Given the description of an element on the screen output the (x, y) to click on. 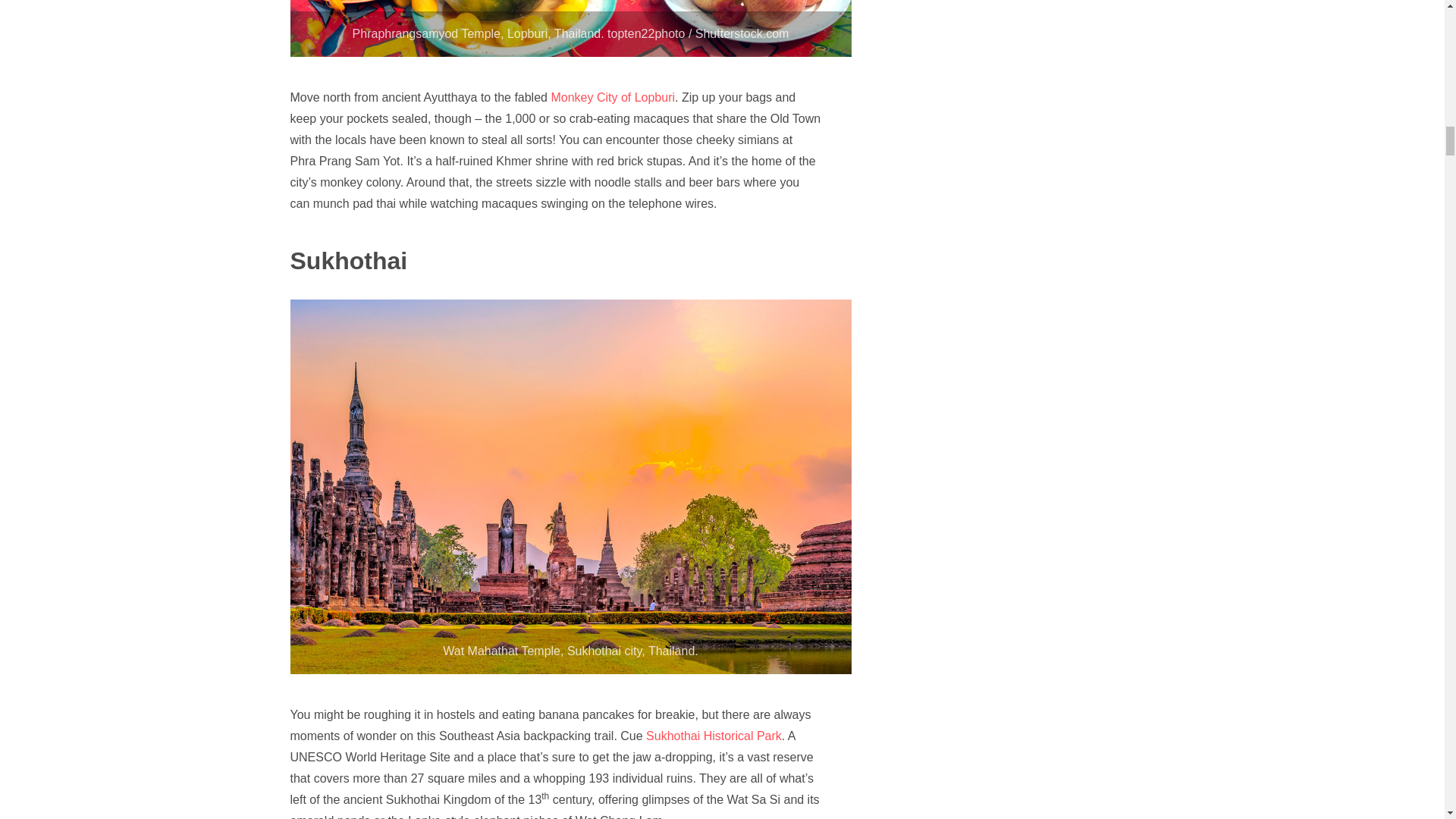
Monkey City of Lopburi (611, 97)
Sukhothai (348, 260)
Sukhothai Historical Park (712, 735)
